Given the description of an element on the screen output the (x, y) to click on. 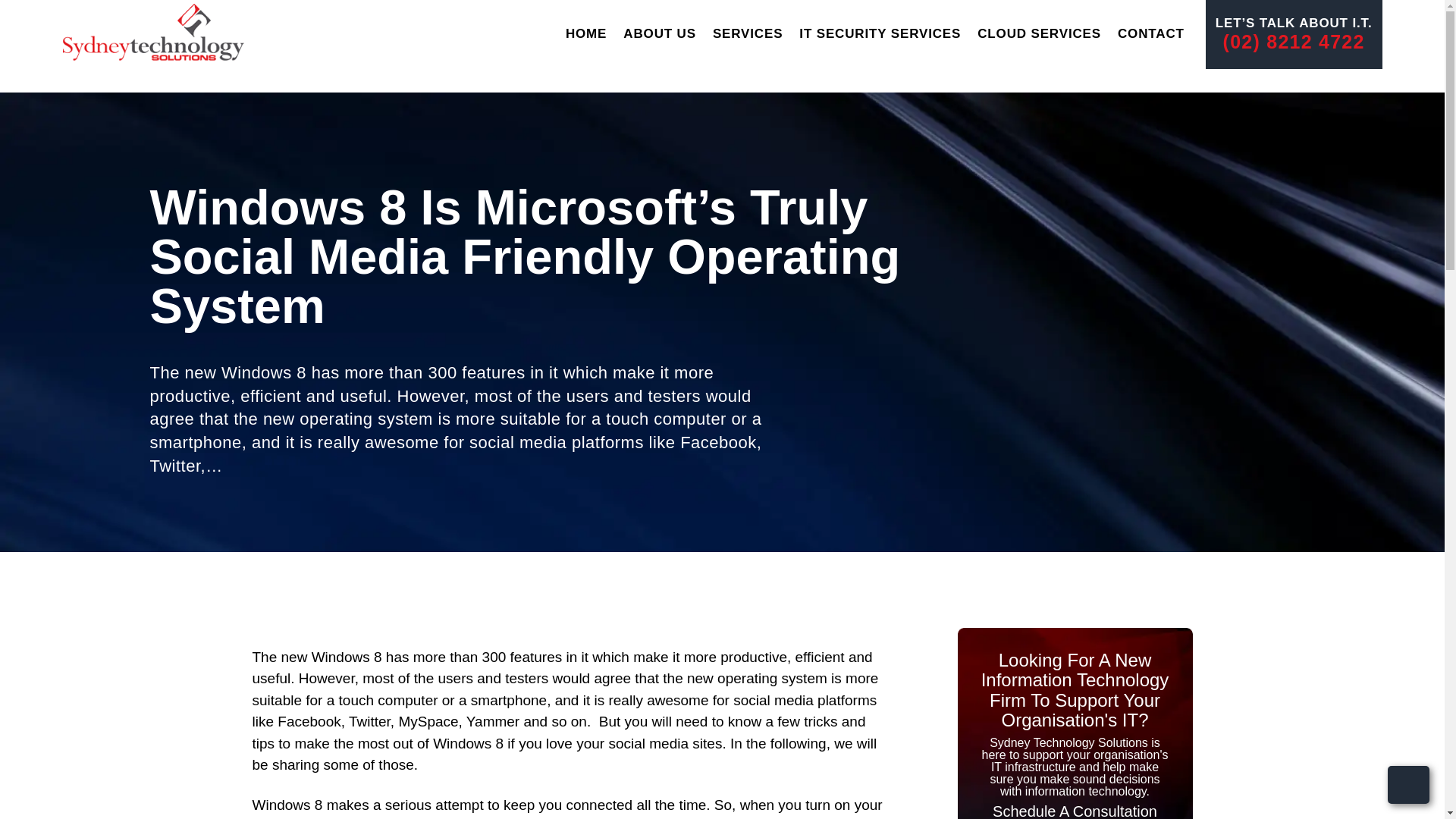
CLOUD SERVICES (1038, 33)
HOME (586, 33)
CONTACT (1151, 33)
IT SECURITY SERVICES (879, 33)
ABOUT US (659, 33)
SERVICES (748, 33)
